Given the description of an element on the screen output the (x, y) to click on. 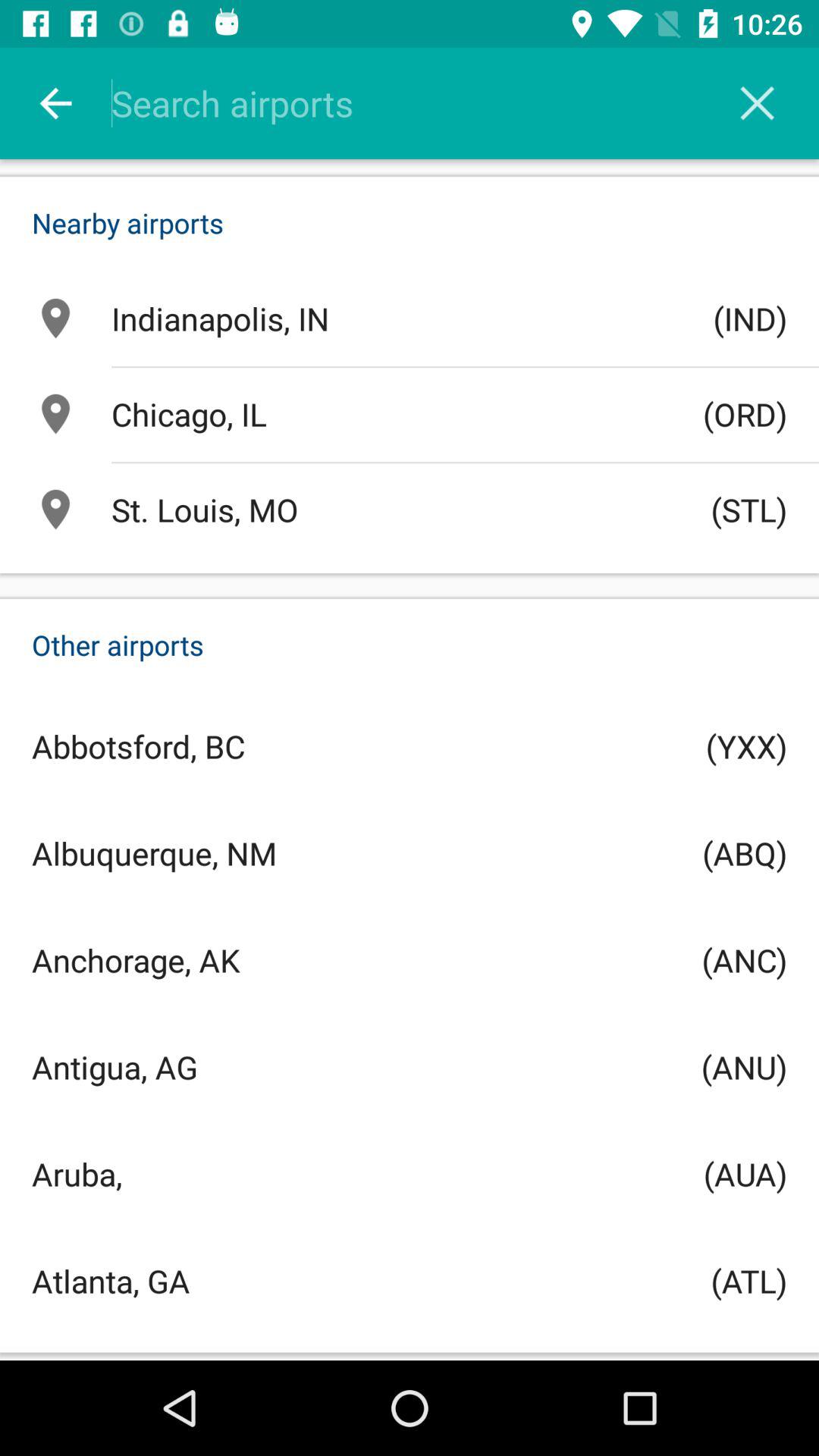
search function (429, 103)
